Given the description of an element on the screen output the (x, y) to click on. 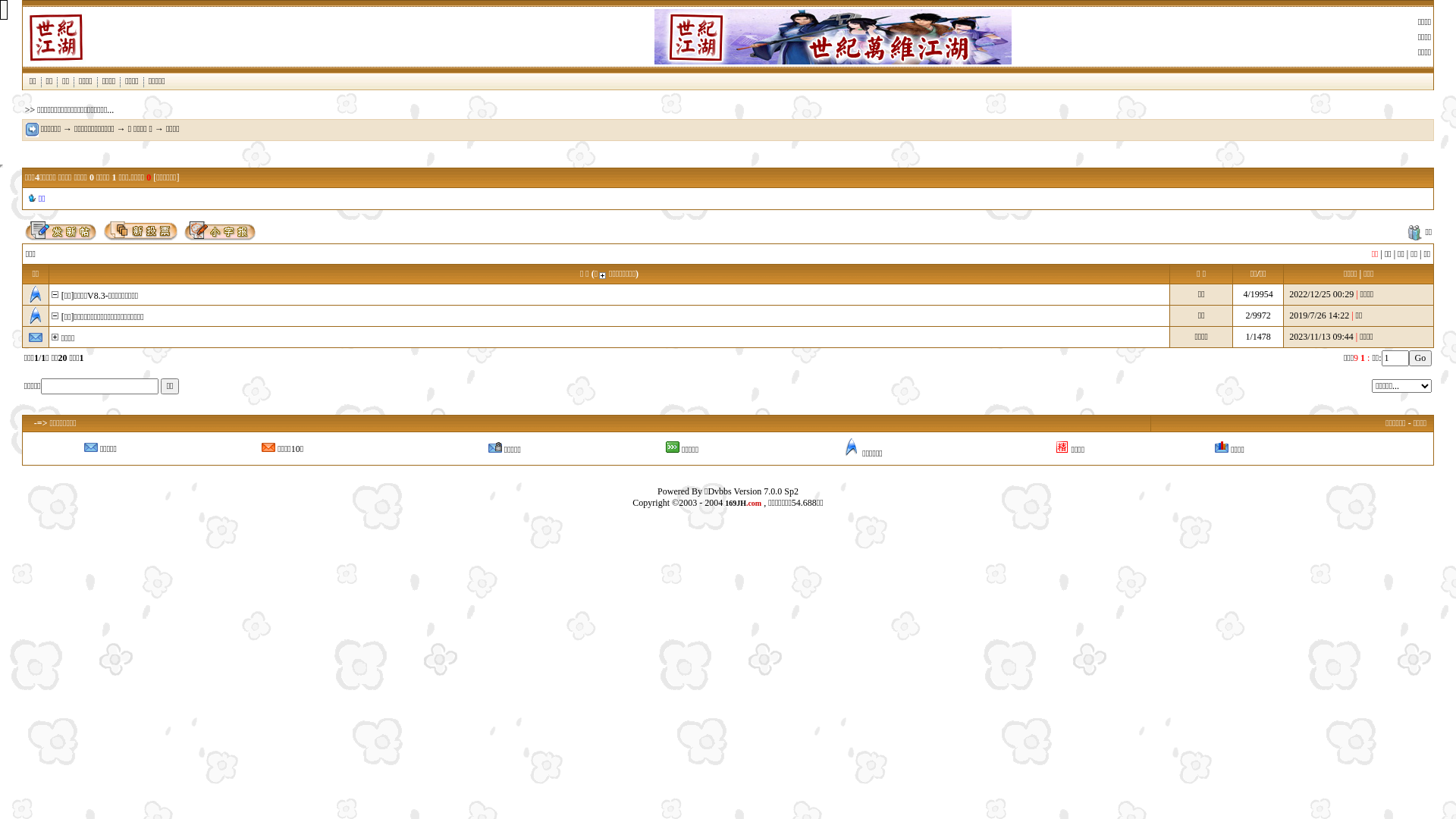
2023/11/13 09:44 Element type: text (1321, 336)
2022/12/25 00:29 Element type: text (1321, 293)
2019/7/26 14:22 Element type: text (1319, 315)
169JH.com Element type: text (742, 502)
Go Element type: text (1420, 358)
